Given the description of an element on the screen output the (x, y) to click on. 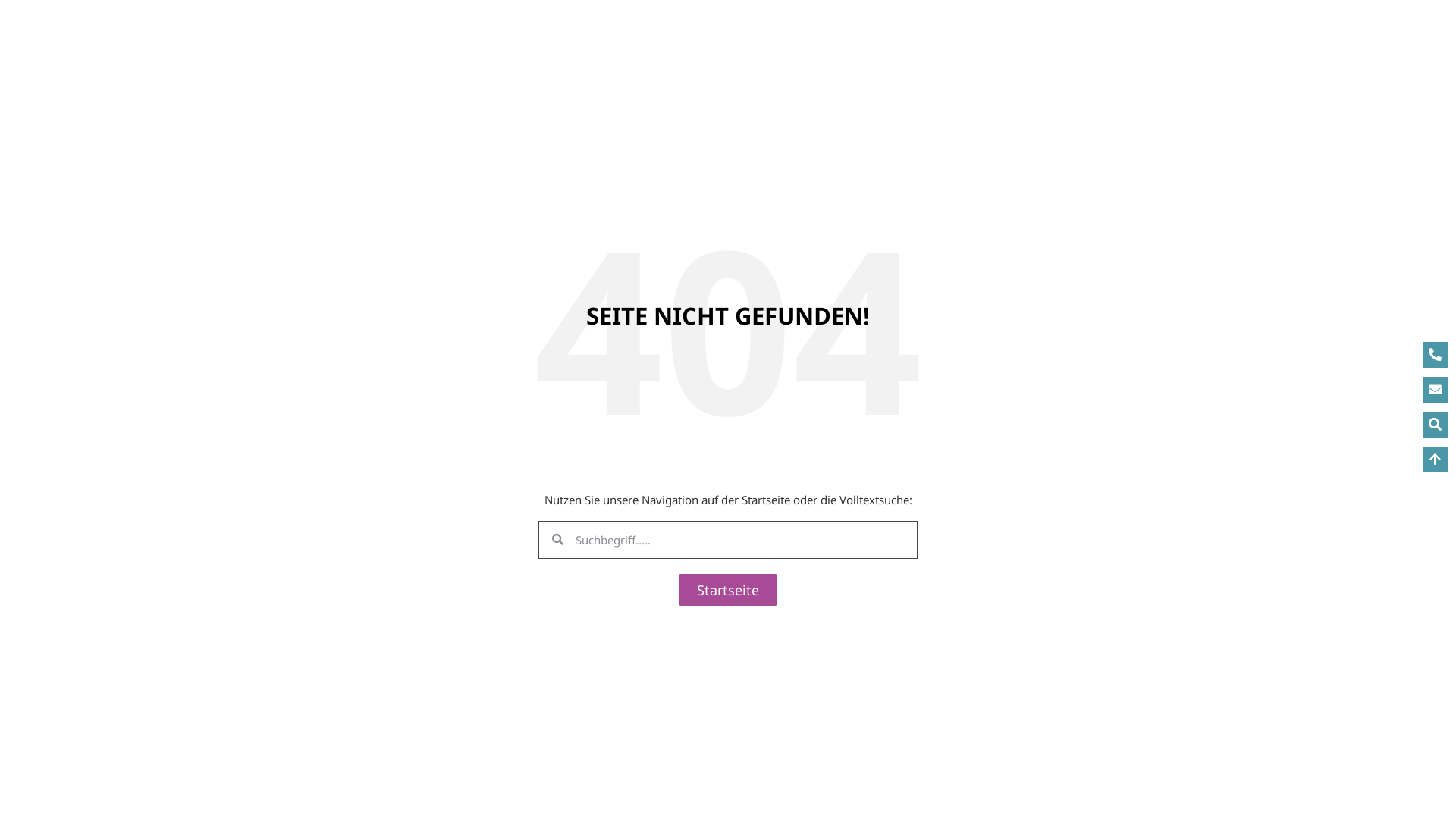
Startseite Element type: text (727, 589)
